Given the description of an element on the screen output the (x, y) to click on. 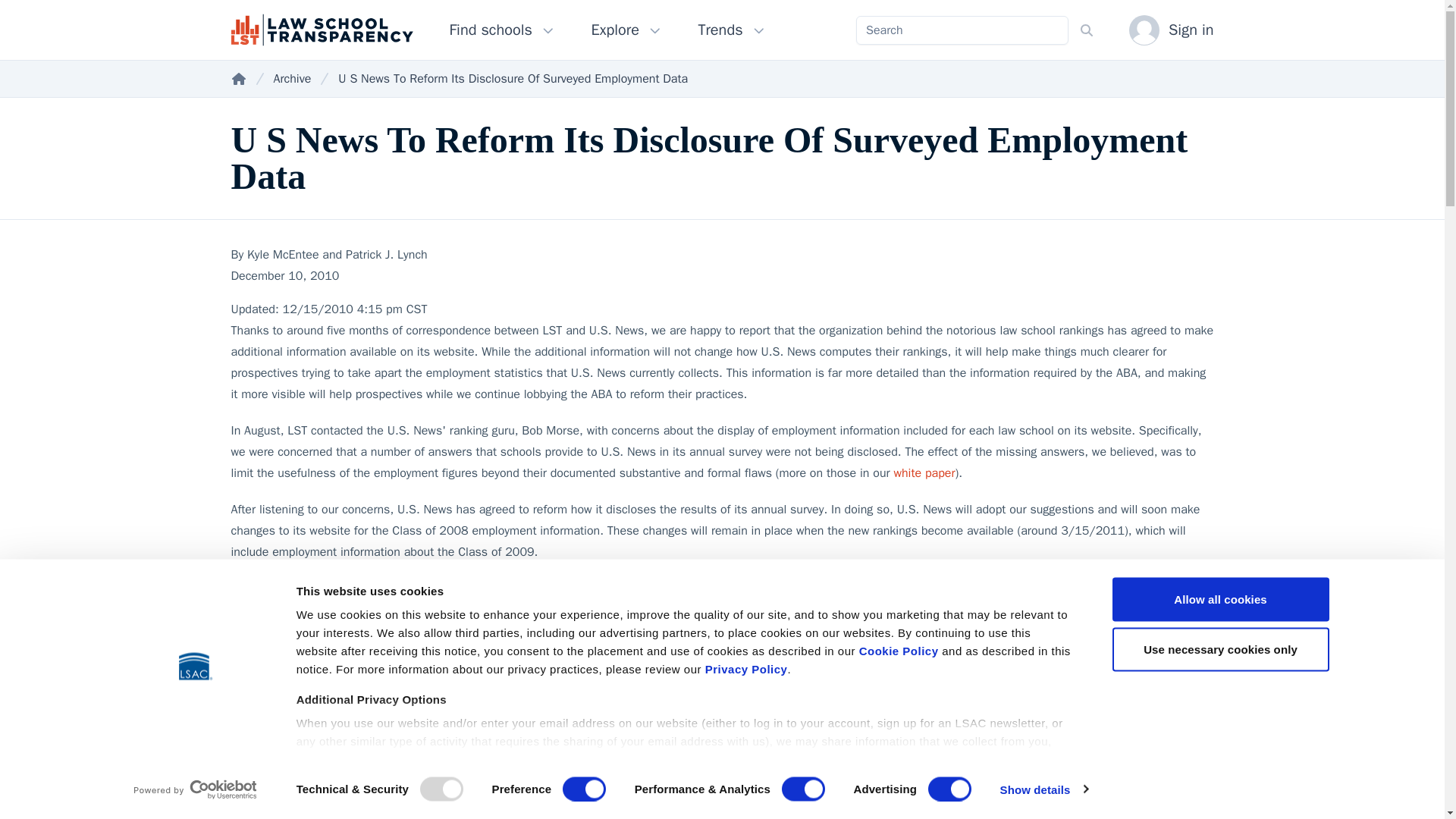
Cookie Policy (899, 650)
Privacy Policy (745, 668)
Privacy Policy (745, 668)
Cookie Policy (899, 650)
Show details (1043, 789)
